Given the description of an element on the screen output the (x, y) to click on. 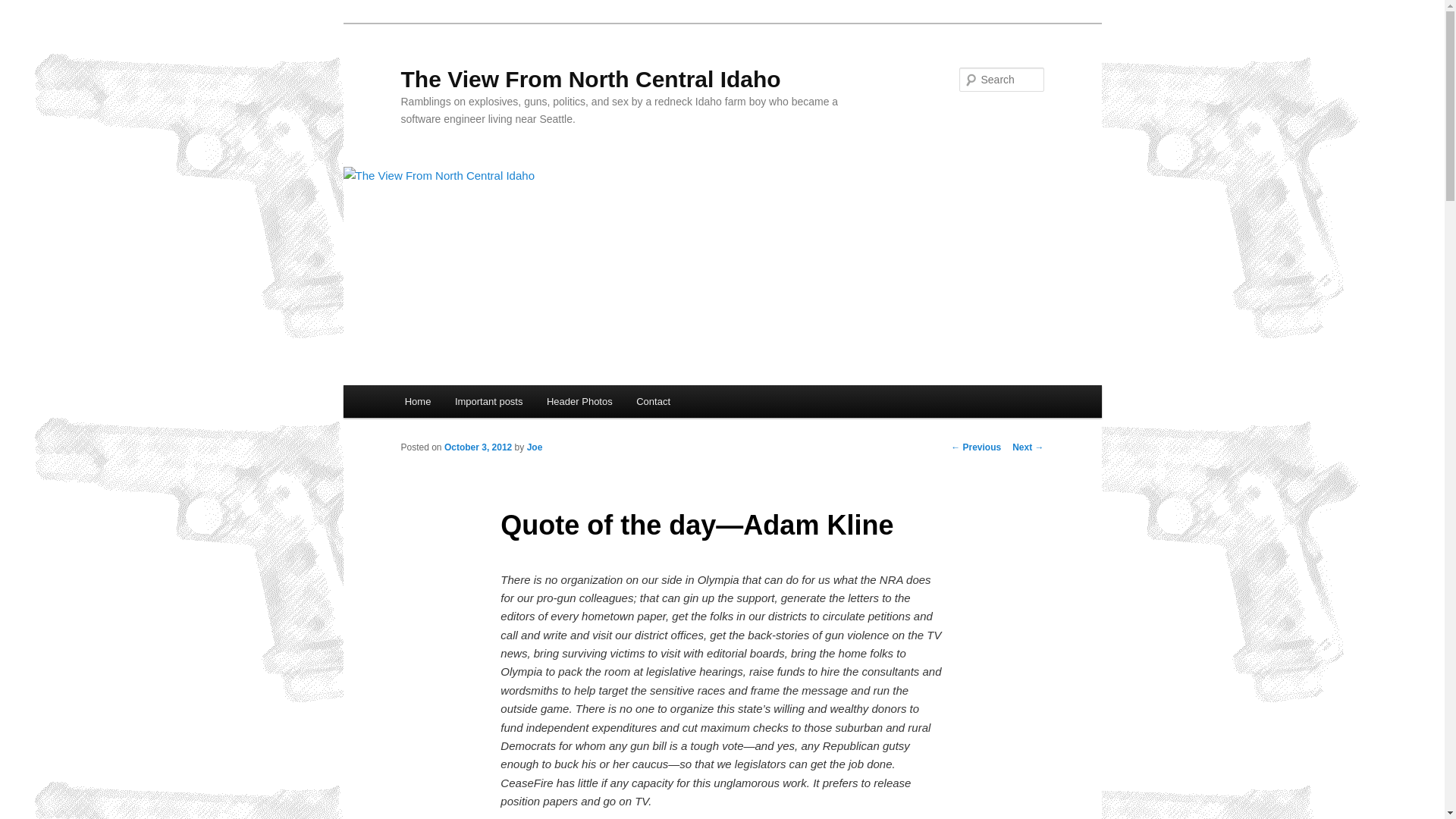
Contact (652, 400)
Header Photos (579, 400)
Home (417, 400)
View all posts by Joe (535, 447)
October 3, 2012 (478, 447)
Joe (535, 447)
The View From North Central Idaho (590, 78)
8:15 am (478, 447)
Important posts (488, 400)
Search (24, 8)
